Given the description of an element on the screen output the (x, y) to click on. 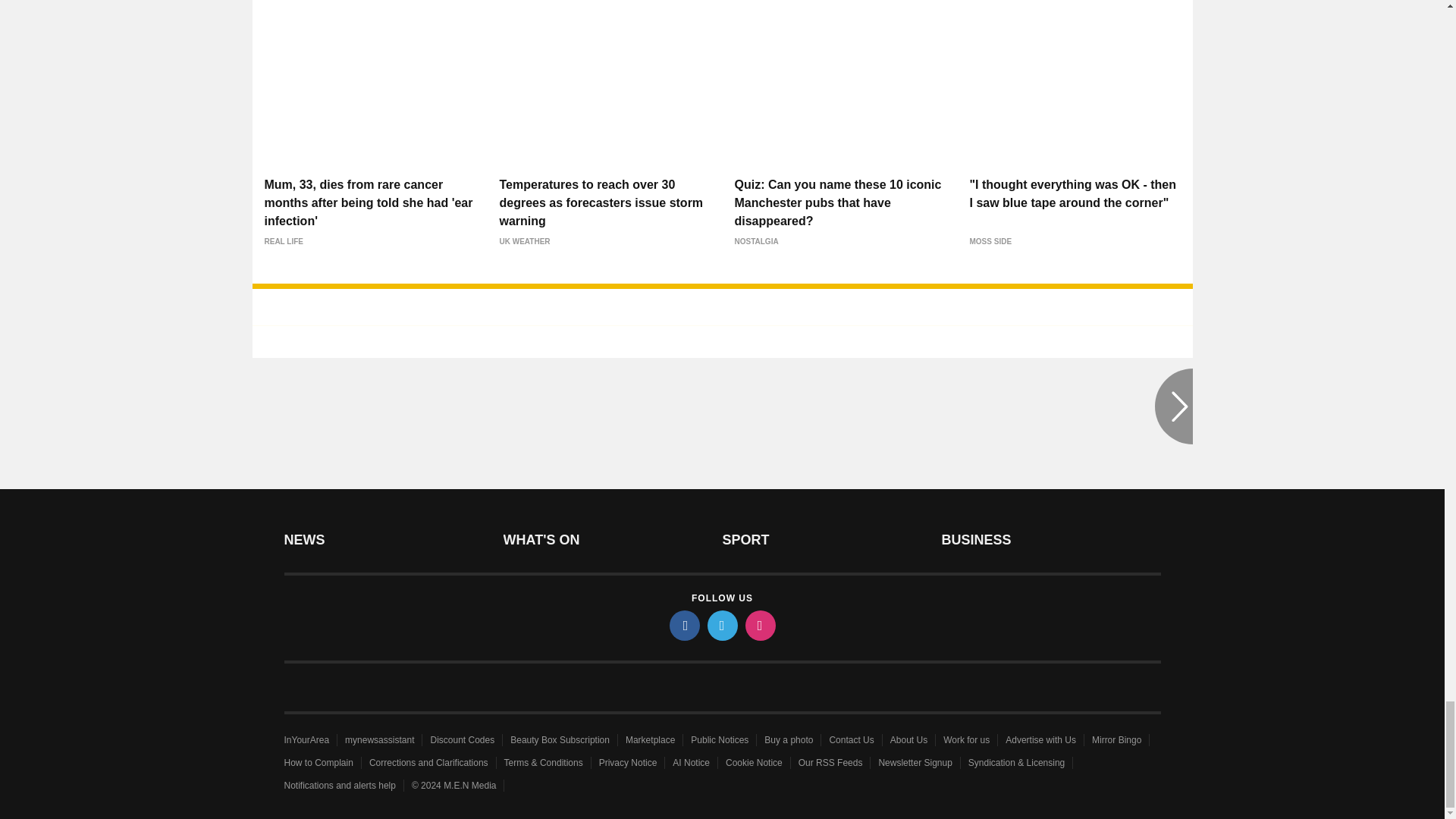
facebook (683, 625)
twitter (721, 625)
instagram (759, 625)
